Given the description of an element on the screen output the (x, y) to click on. 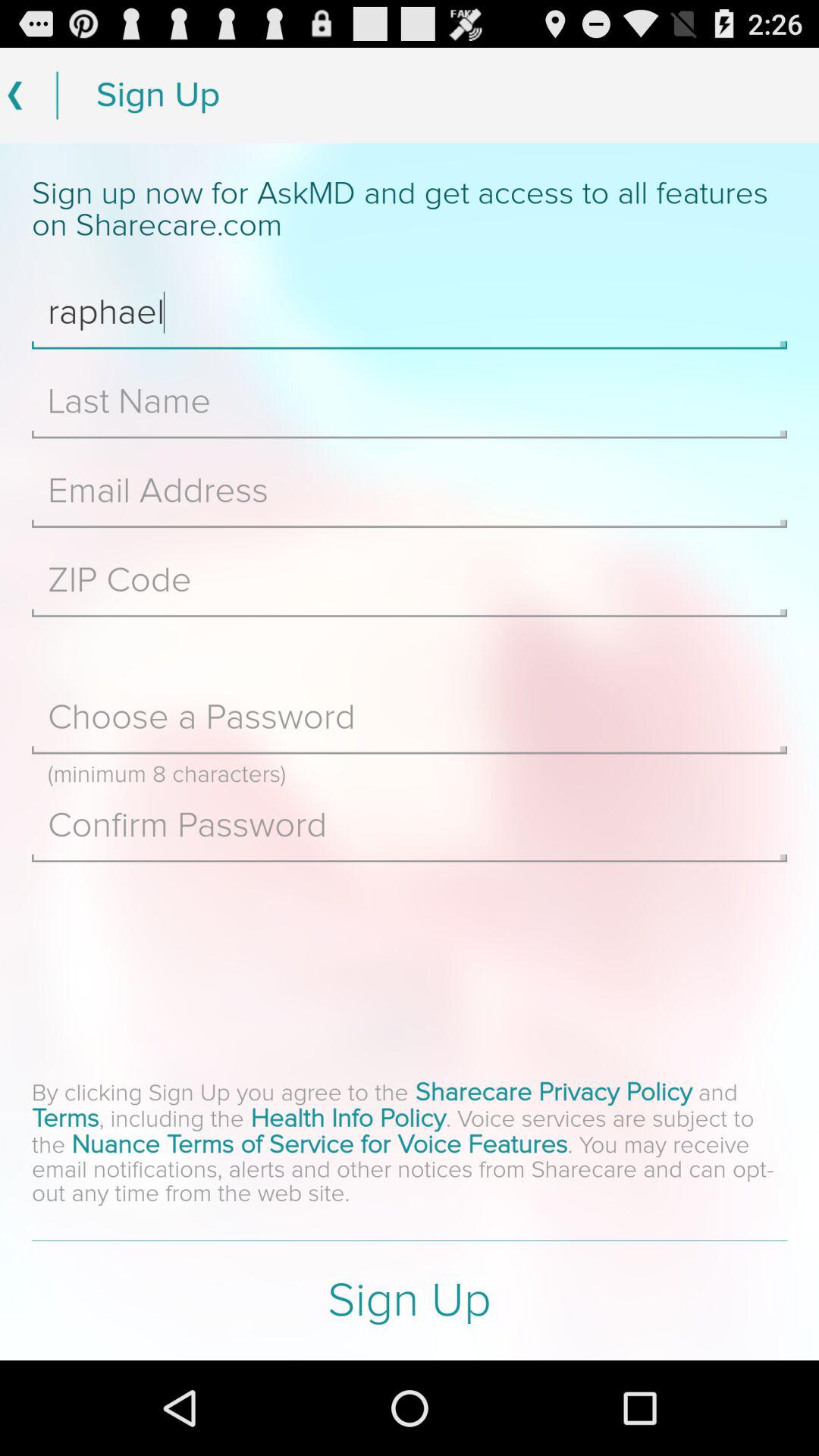
enter email (409, 490)
